Given the description of an element on the screen output the (x, y) to click on. 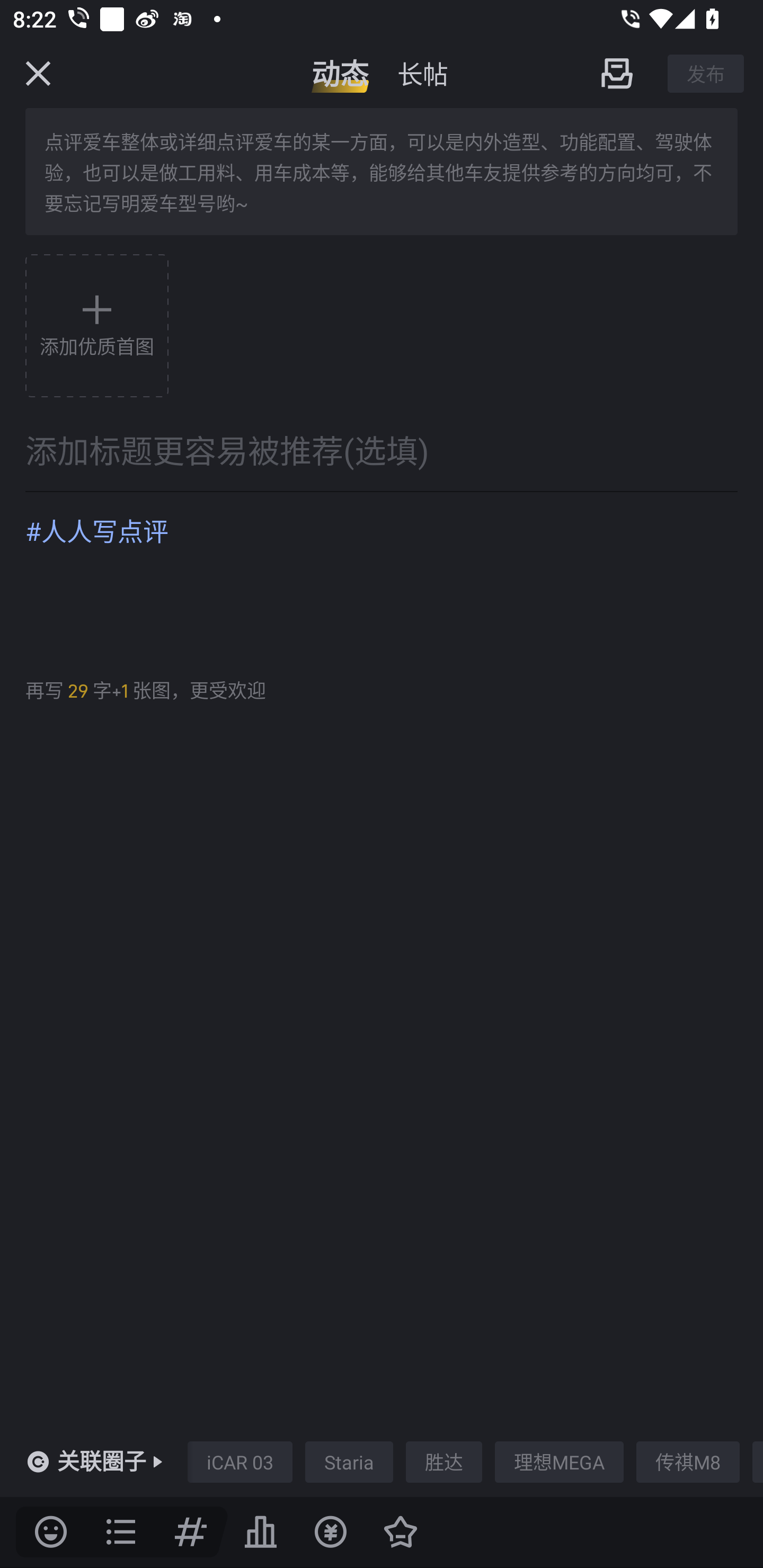
动态 (340, 72)
 (38, 73)
 (616, 73)
发布 (705, 73)
长帖 (422, 73)
 添加优质首图 (96, 325)
添加标题更容易被推荐(选填) (381, 449)
#人人写点评
 (381, 577)
再写 29 字+1 张图，更受欢迎 (145, 690)
关联圈子 (101, 1461)
iCAR 03 (239, 1461)
Staria (348, 1461)
胜达 (443, 1461)
理想MEGA (559, 1461)
传祺M8 (687, 1461)
 (260, 1531)
 (330, 1531)
 (400, 1531)
 (51, 1531)
 (190, 1531)
